Given the description of an element on the screen output the (x, y) to click on. 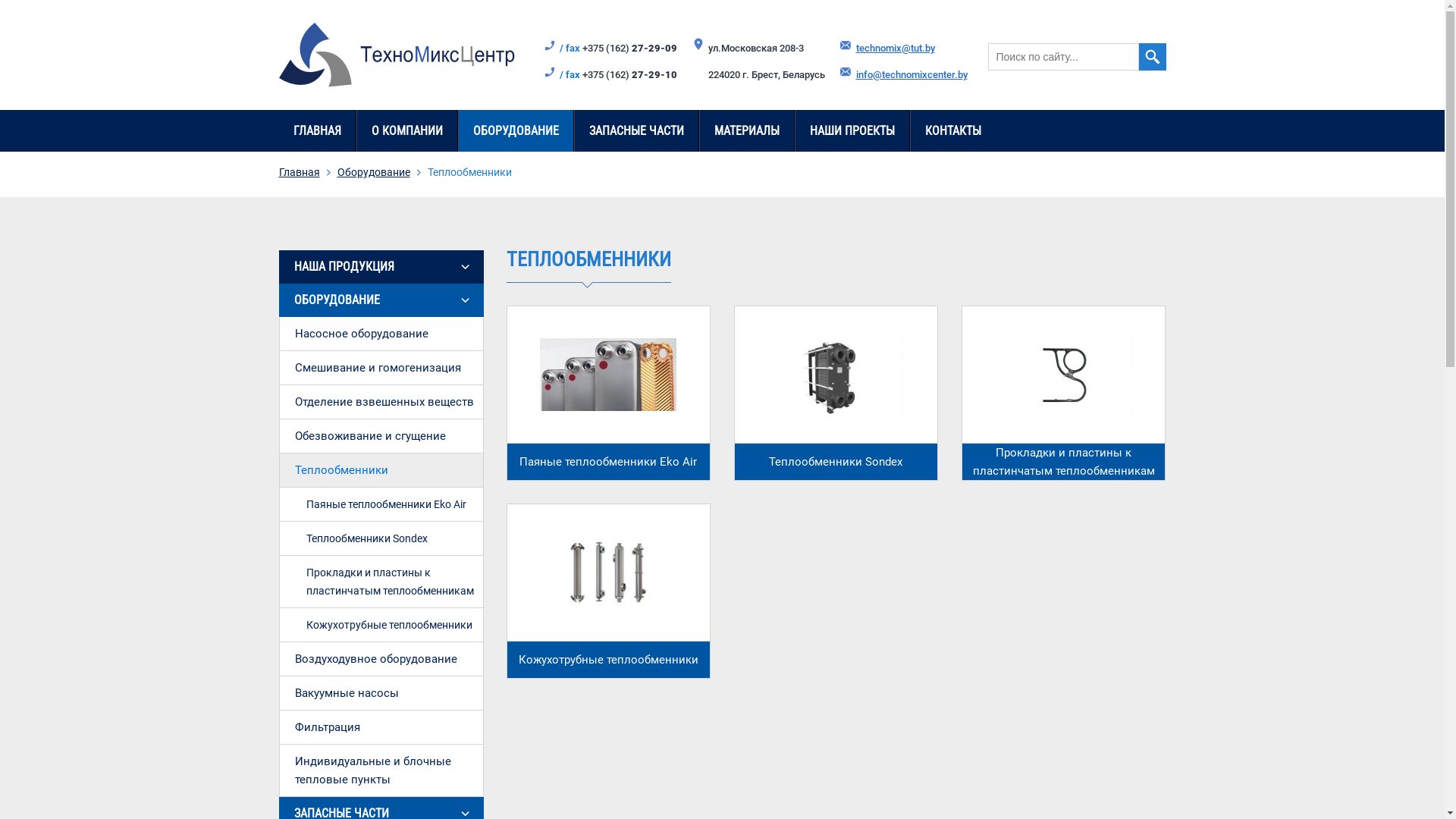
technomix@tut.by Element type: text (894, 47)
info@technomixcenter.by Element type: text (910, 74)
